Given the description of an element on the screen output the (x, y) to click on. 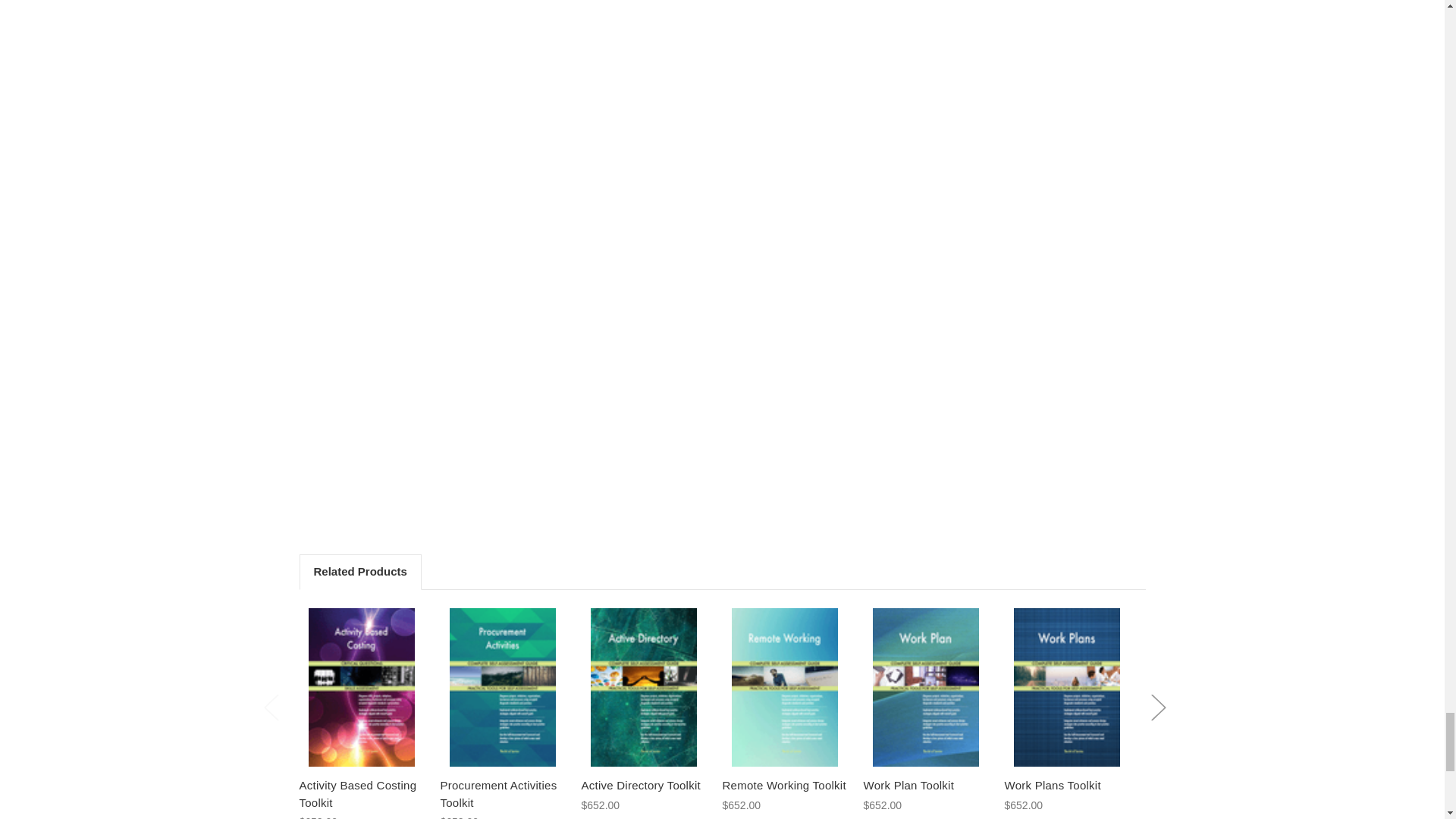
Related Products (359, 571)
Activity Based Costing Toolkit (360, 794)
